Given the description of an element on the screen output the (x, y) to click on. 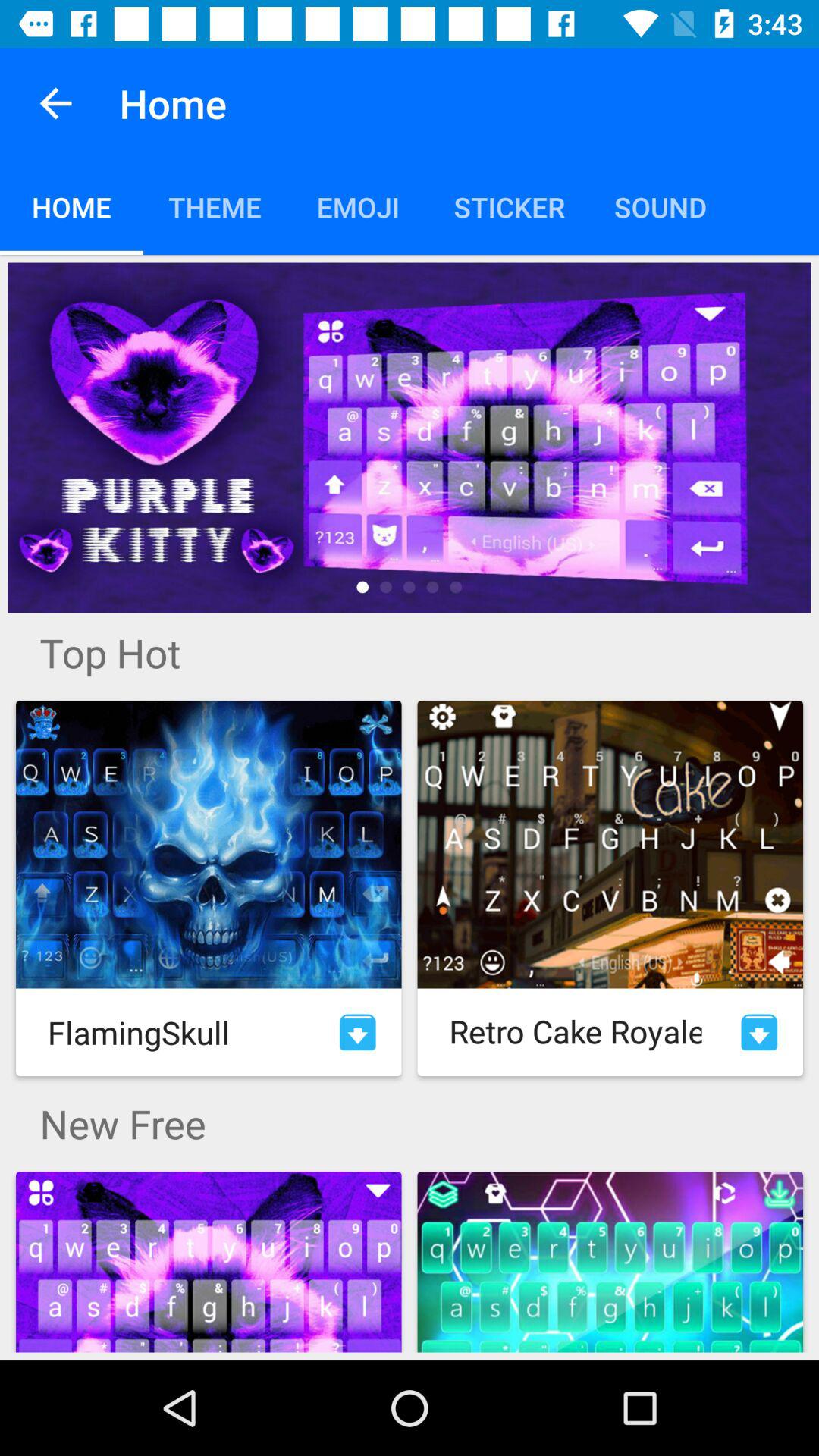
choose the item next to home app (55, 103)
